Given the description of an element on the screen output the (x, y) to click on. 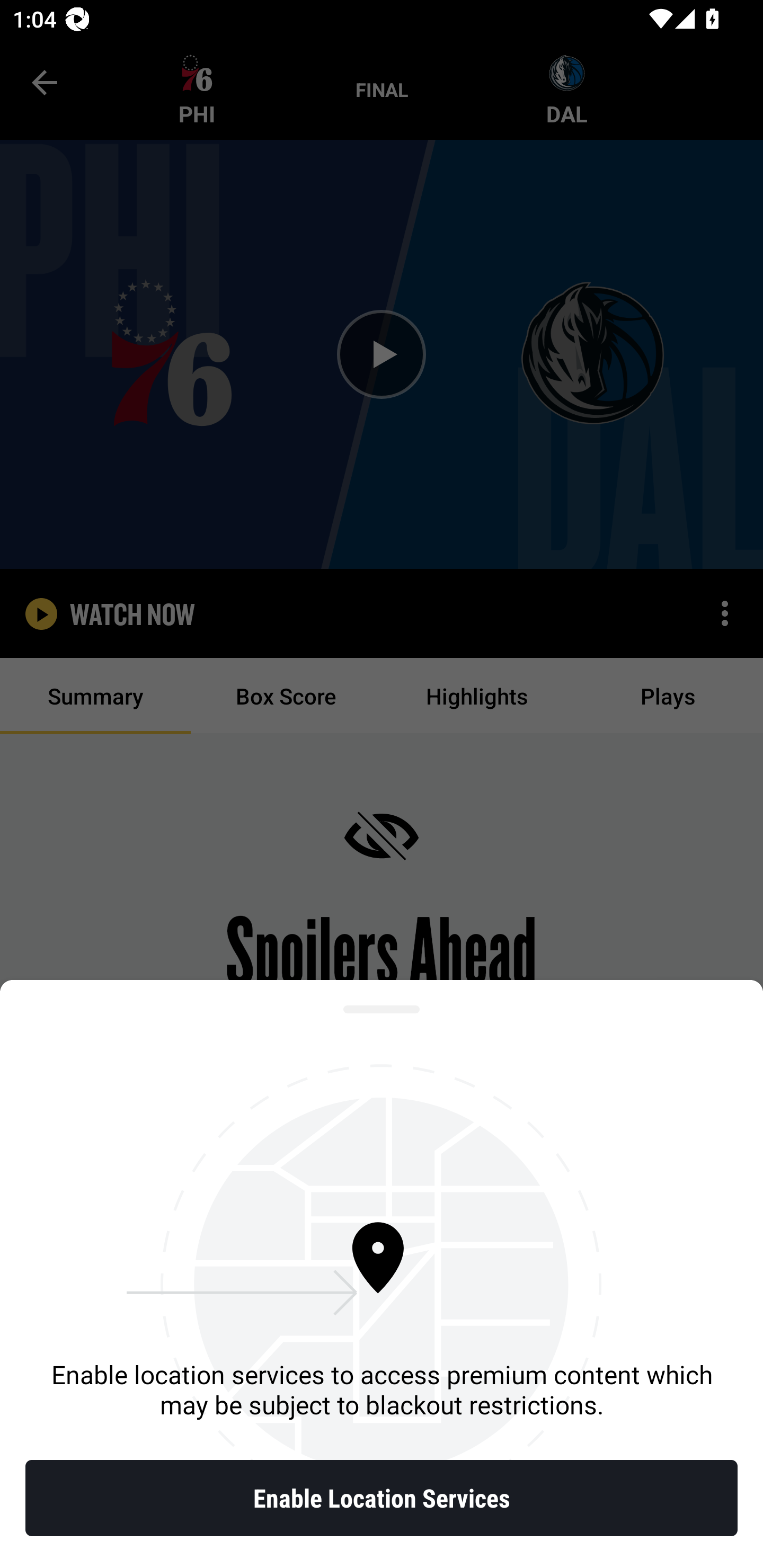
Enable Location Services (381, 1497)
